Given the description of an element on the screen output the (x, y) to click on. 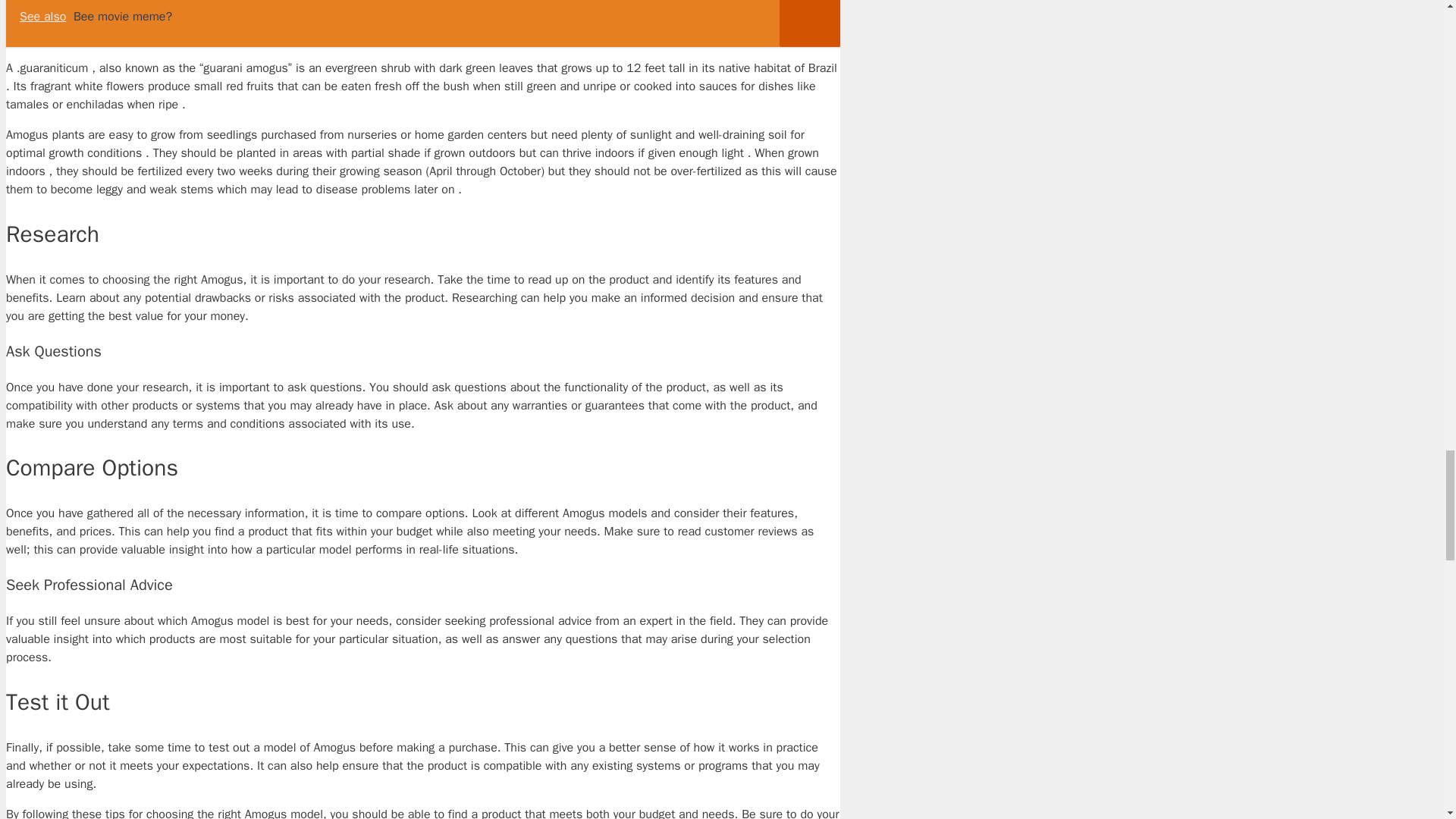
See also  Bee movie meme? (422, 23)
